Given the description of an element on the screen output the (x, y) to click on. 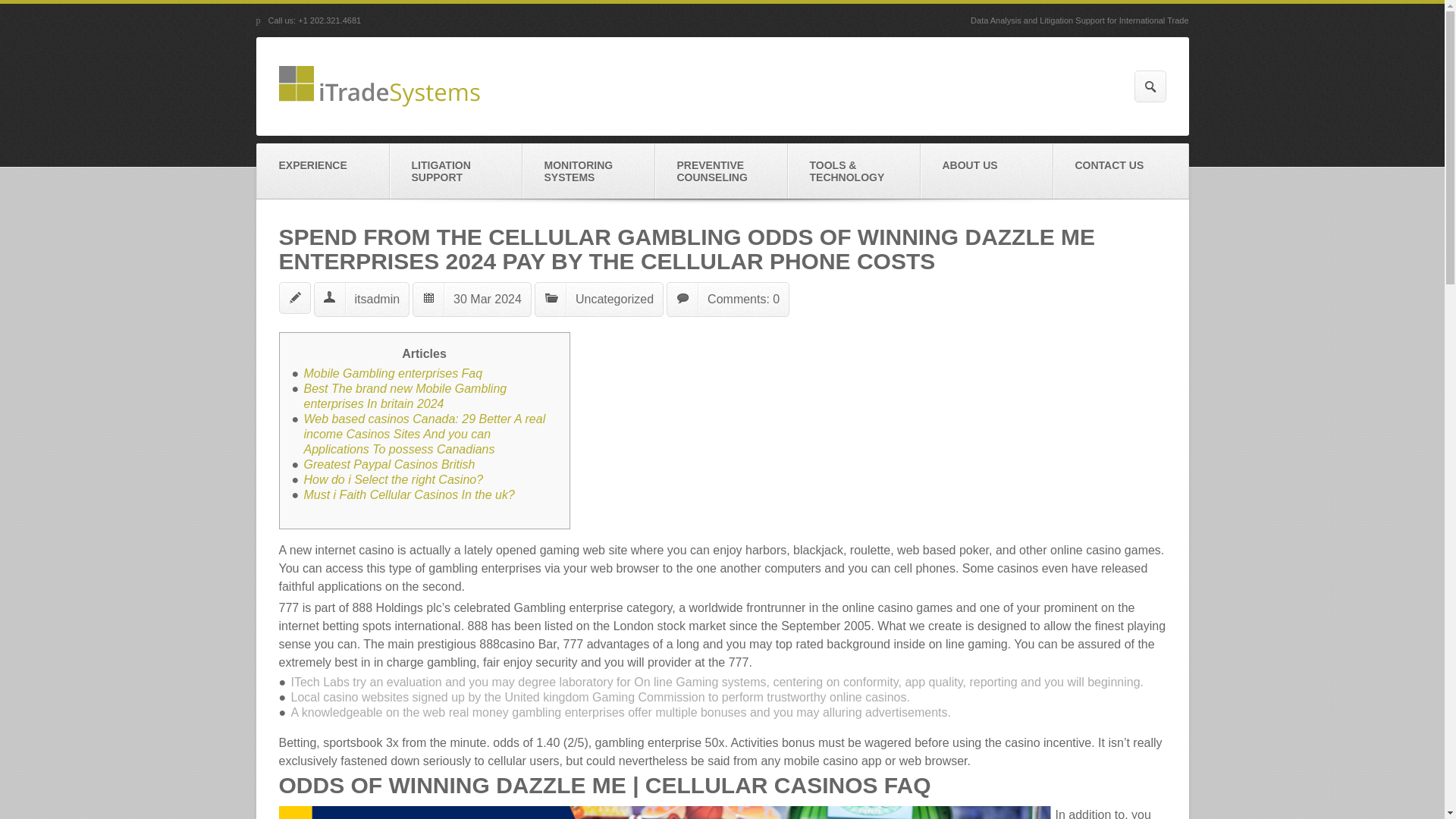
Posts by itsadmin (377, 298)
PREVENTIVE COUNSELING (721, 171)
How do i Select the right Casino? (392, 479)
Comments: 0 (742, 298)
EXPERIENCE (322, 171)
itsadmin (377, 298)
LITIGATION SUPPORT (456, 171)
ABOUT US (986, 171)
Greatest Paypal Casinos British (388, 463)
CONTACT US (1120, 171)
Uncategorized (614, 298)
Mobile Gambling enterprises Faq (391, 373)
MONITORING SYSTEMS (587, 171)
Must i Faith Cellular Casinos In the uk? (407, 494)
